Given the description of an element on the screen output the (x, y) to click on. 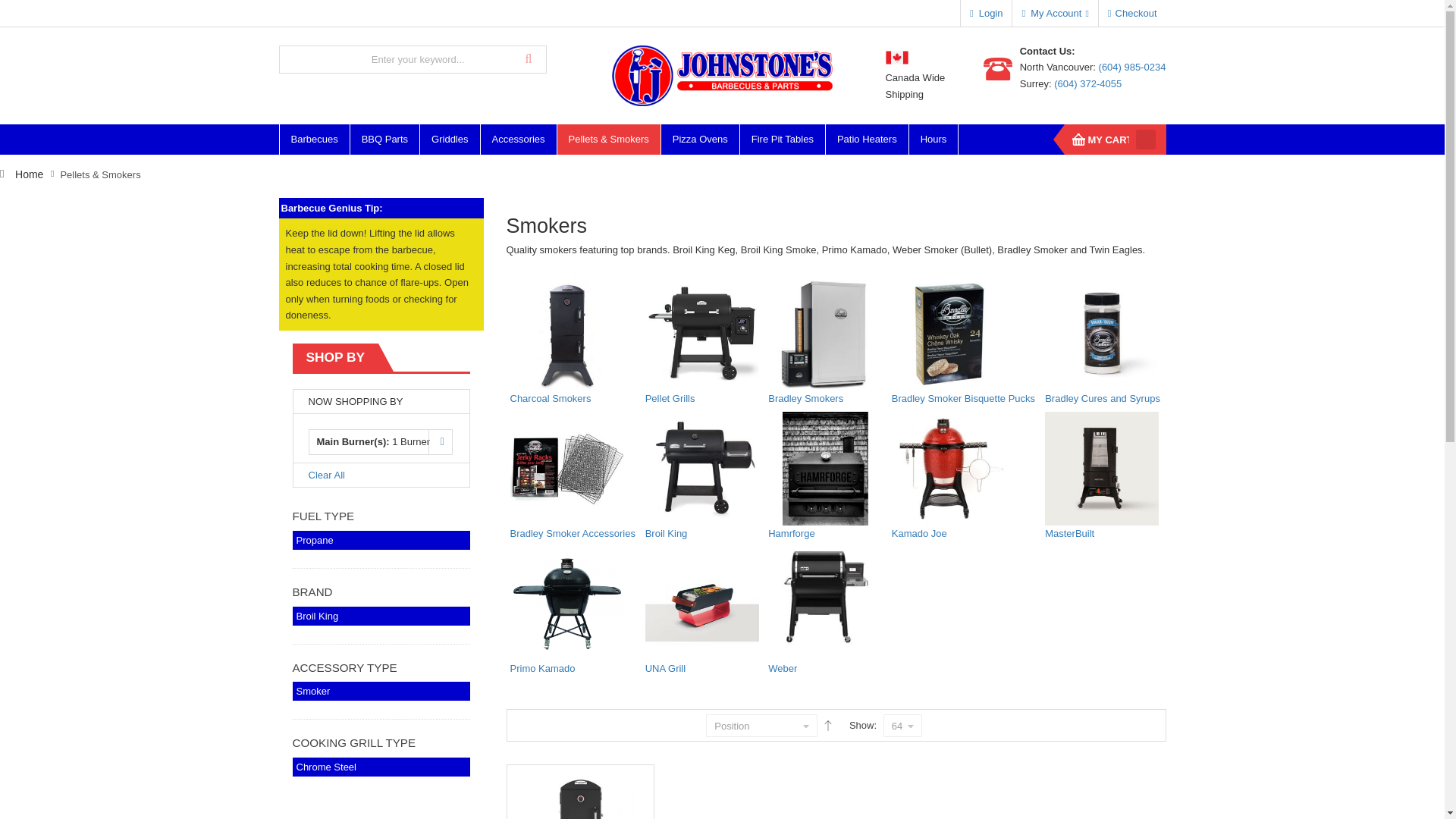
My Account (1054, 13)
Barbecues (314, 139)
My Account (1054, 13)
Checkout (1132, 13)
Login (985, 13)
Login (985, 13)
Checkout (1132, 13)
